Given the description of an element on the screen output the (x, y) to click on. 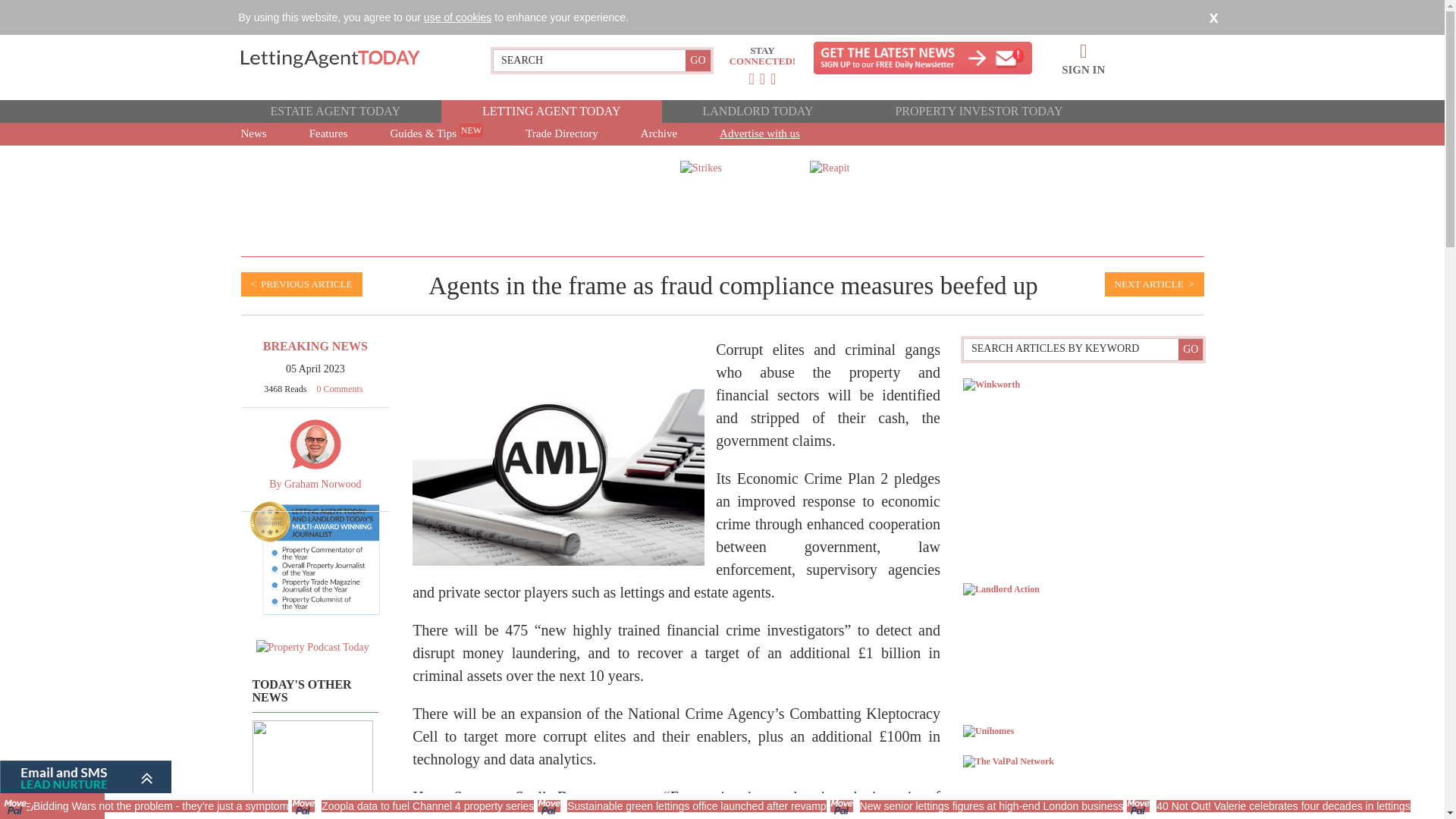
Archive (658, 133)
GO (697, 60)
PROPERTY INVESTOR TODAY (978, 110)
Reapit (829, 168)
News (252, 133)
Features (328, 133)
LETTING AGENT TODAY (551, 110)
Property Podcast Today (312, 647)
Letting Agent Today (348, 58)
Advertise with us (759, 133)
use of cookies (457, 17)
LANDLORD TODAY (757, 110)
GO (1189, 349)
ESTATE AGENT TODAY (334, 110)
SIGN IN (1083, 61)
